Given the description of an element on the screen output the (x, y) to click on. 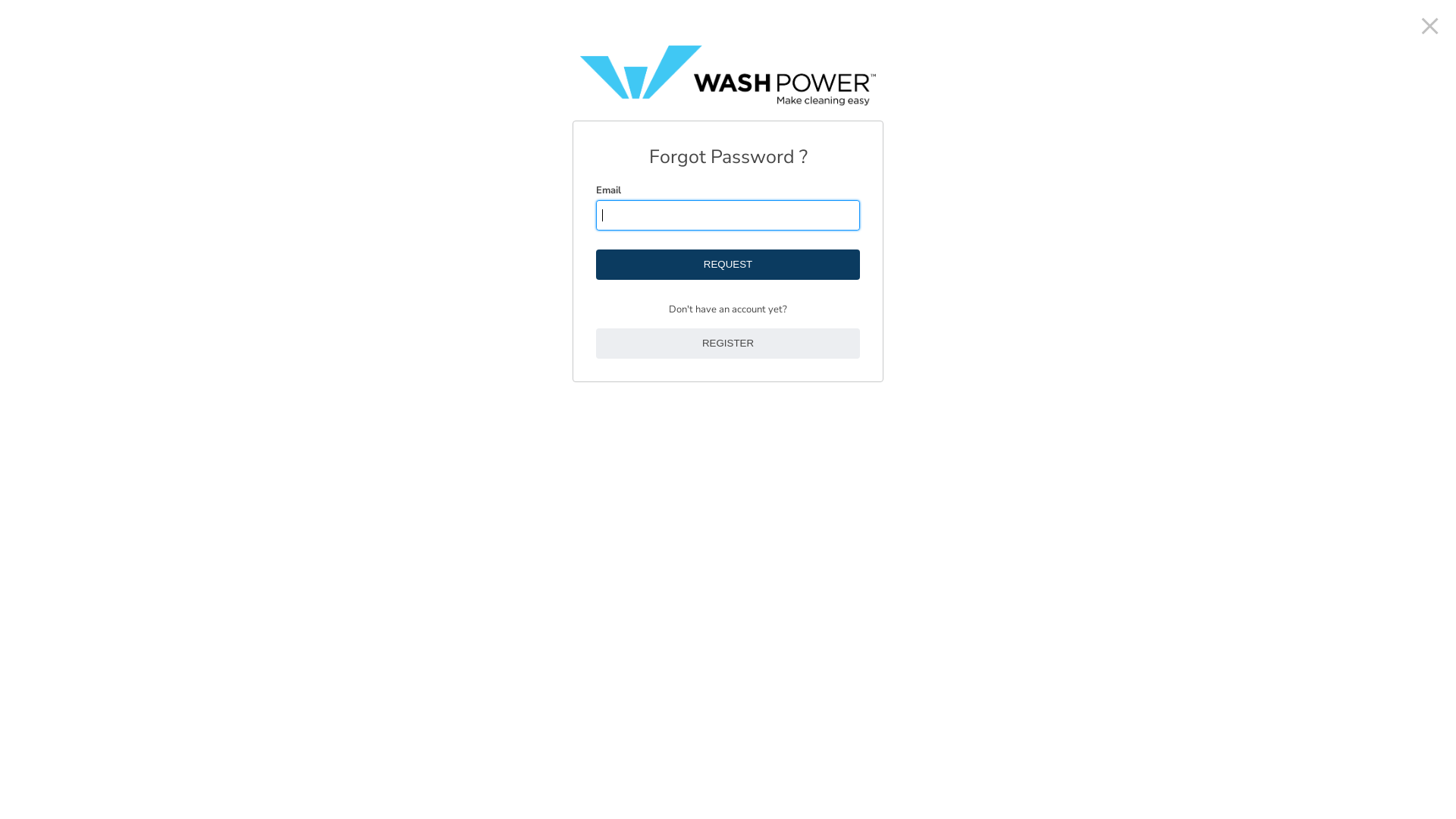
REQUEST Element type: text (727, 264)
REGISTER Element type: text (727, 343)
